Given the description of an element on the screen output the (x, y) to click on. 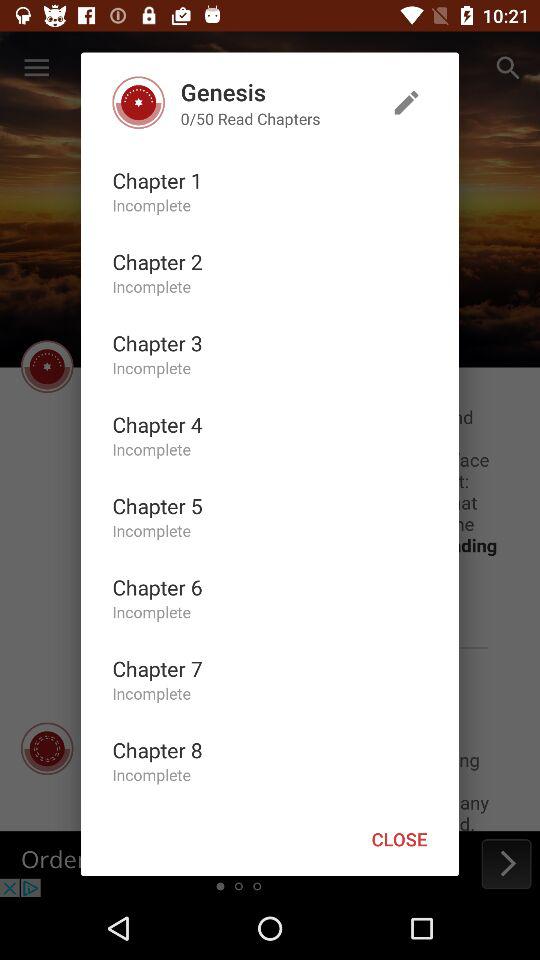
jump until the chapter 4 icon (157, 424)
